Given the description of an element on the screen output the (x, y) to click on. 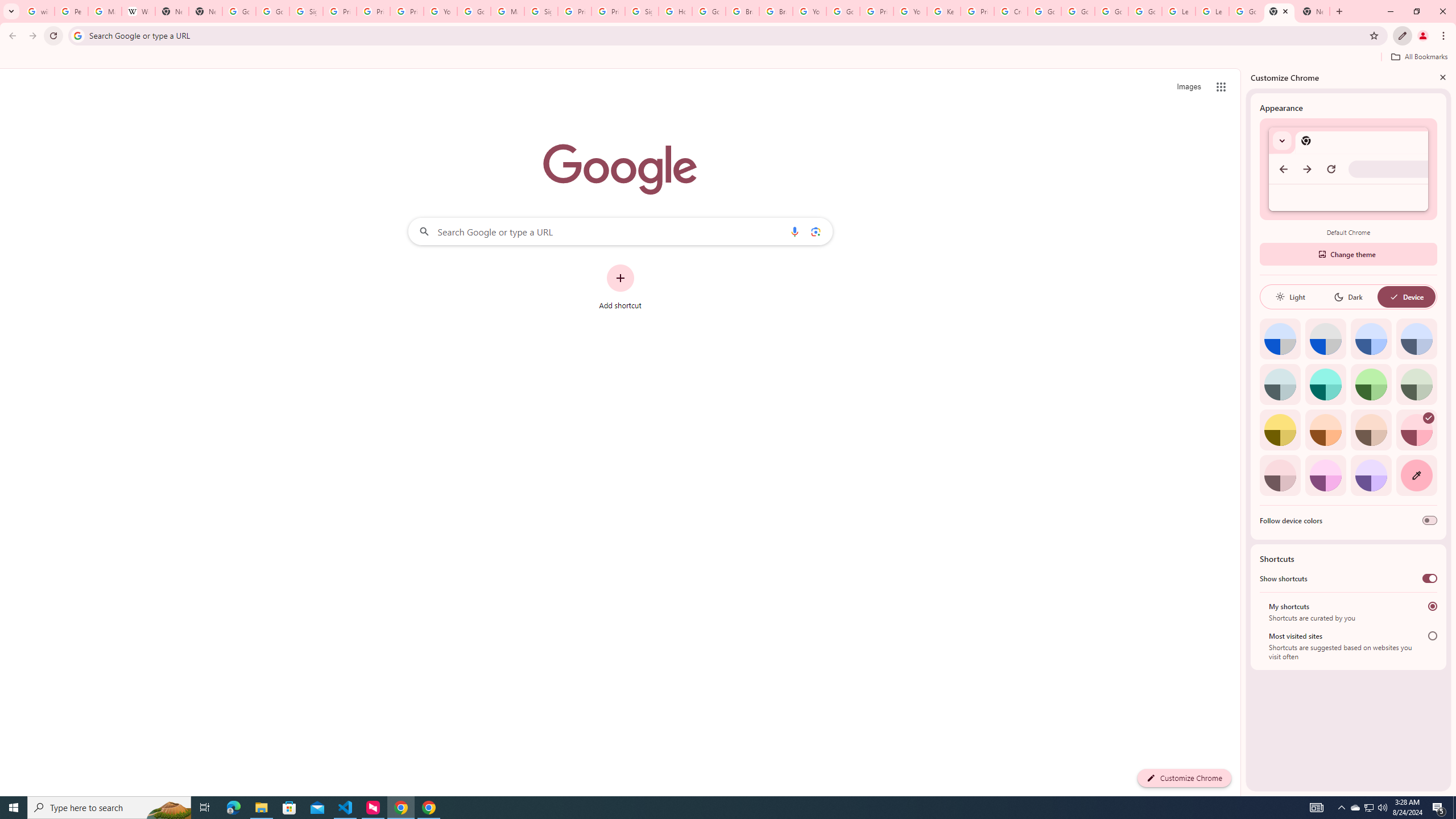
YouTube (909, 11)
Device (1406, 296)
Cool grey (1416, 338)
Side Panel Resize Handle (1242, 431)
Personalization & Google Search results - Google Search Help (71, 11)
Green (1371, 383)
Dark (1348, 296)
Google Account Help (1111, 11)
